Given the description of an element on the screen output the (x, y) to click on. 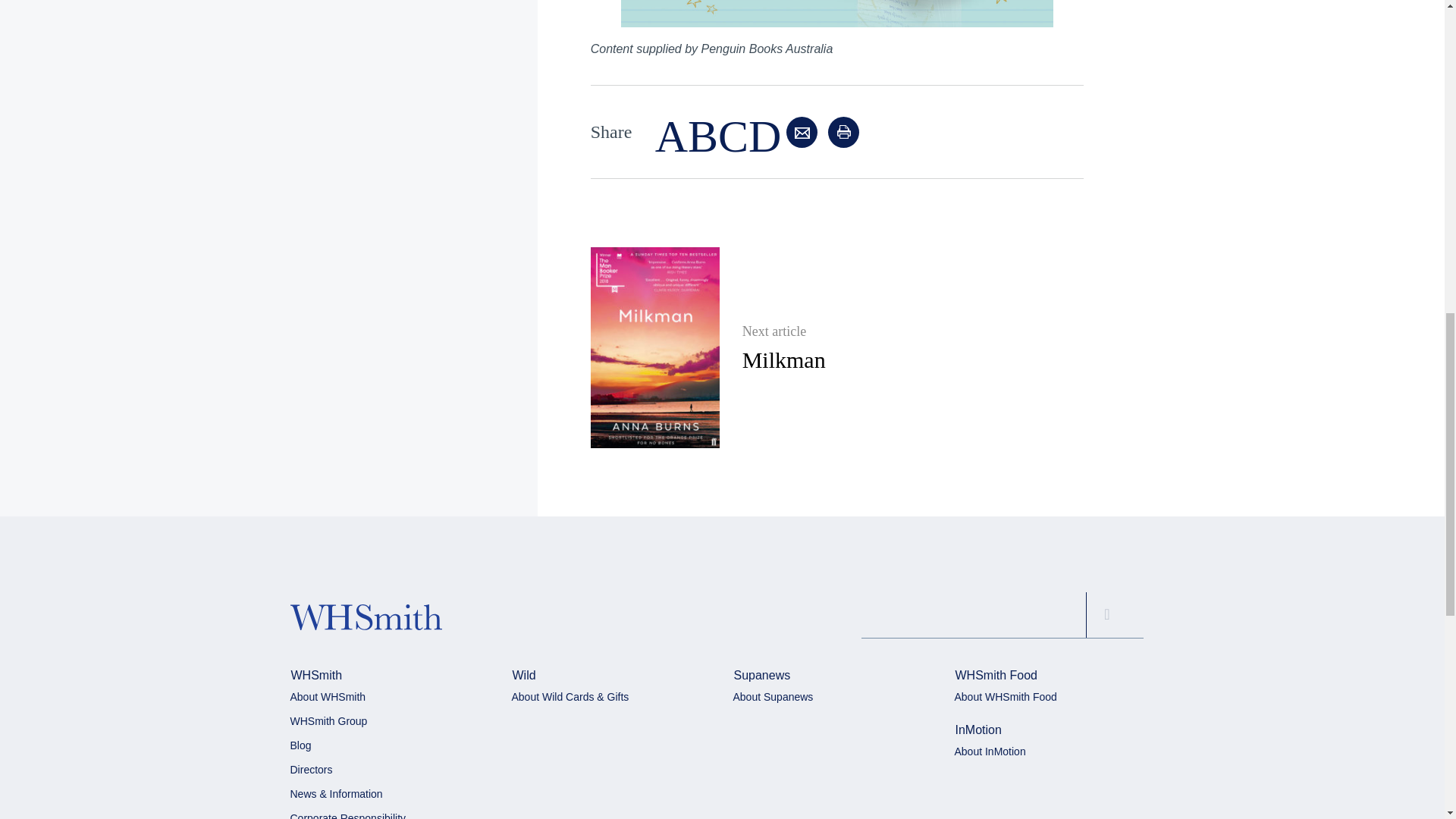
C (732, 147)
B (702, 147)
A (671, 147)
D (764, 147)
Milkman (783, 359)
Next article (783, 332)
